Given the description of an element on the screen output the (x, y) to click on. 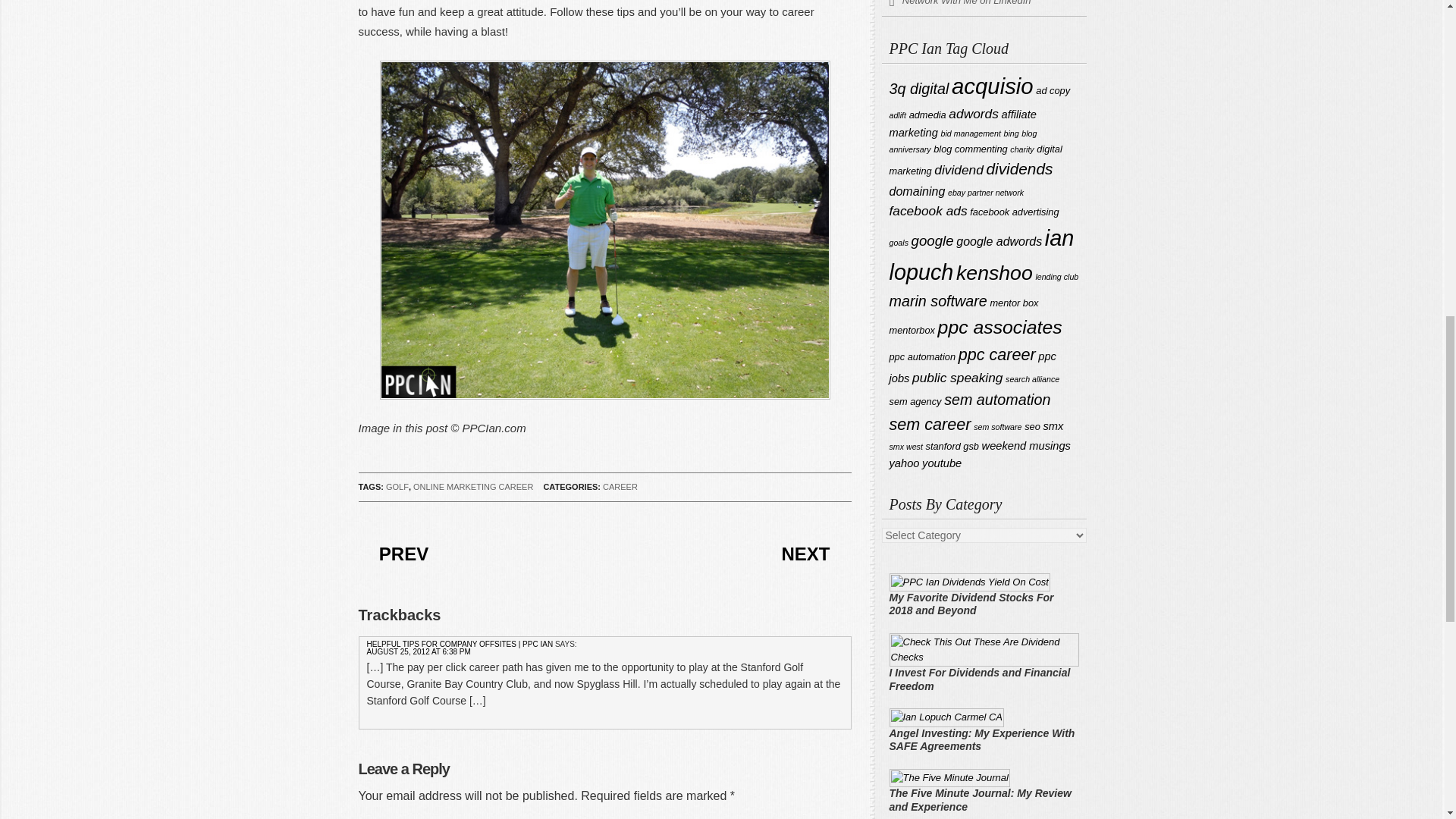
ad copy (1052, 90)
AUGUST 25, 2012 AT 6:38 PM (418, 651)
3q digital (918, 88)
adlift (896, 114)
CAREER (619, 486)
NEXT (805, 553)
Network With Me on LinkedIn (983, 8)
acquisio (992, 85)
admedia (927, 114)
